Given the description of an element on the screen output the (x, y) to click on. 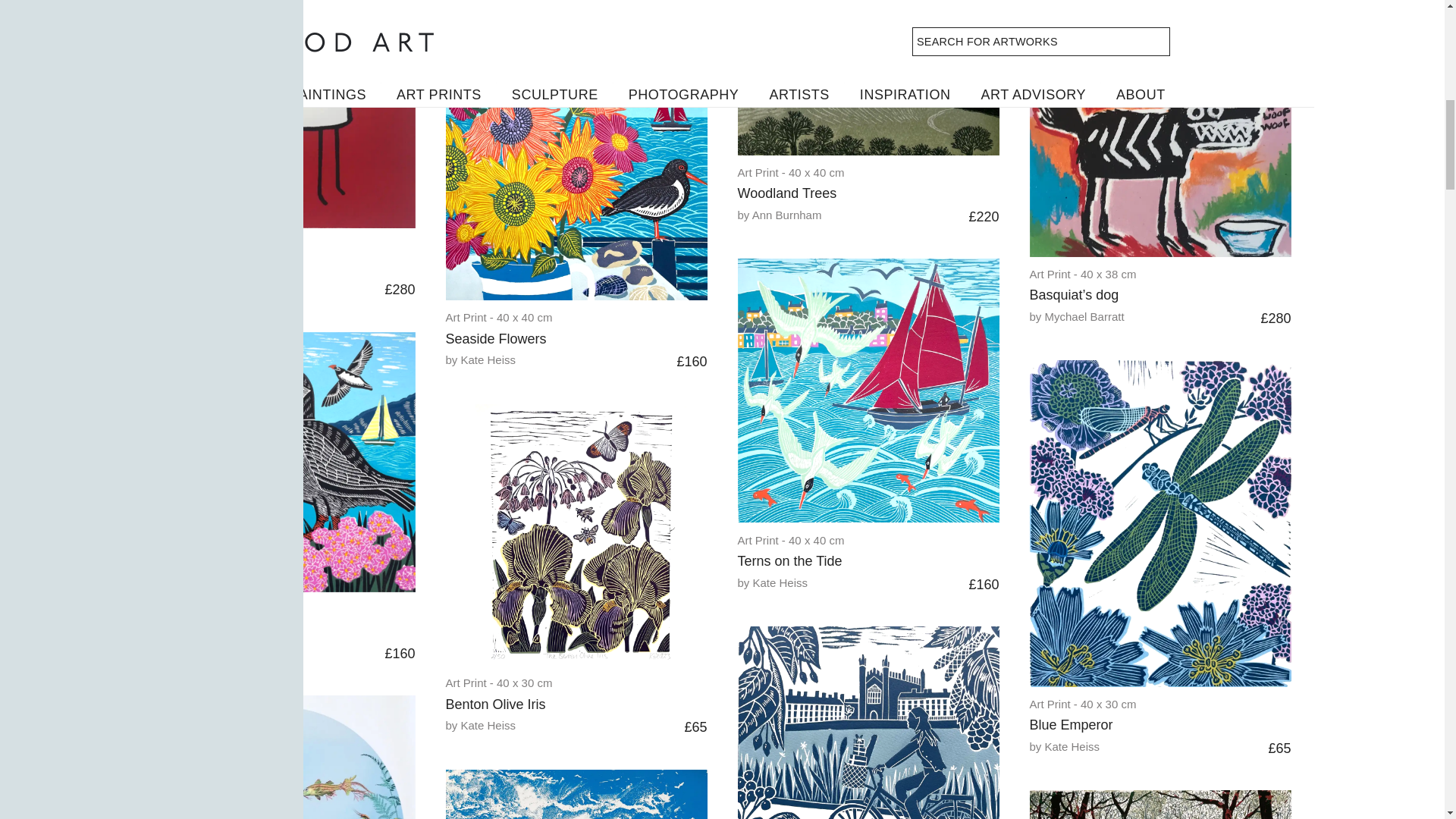
Allan Forsyth (552, 1)
